Given the description of an element on the screen output the (x, y) to click on. 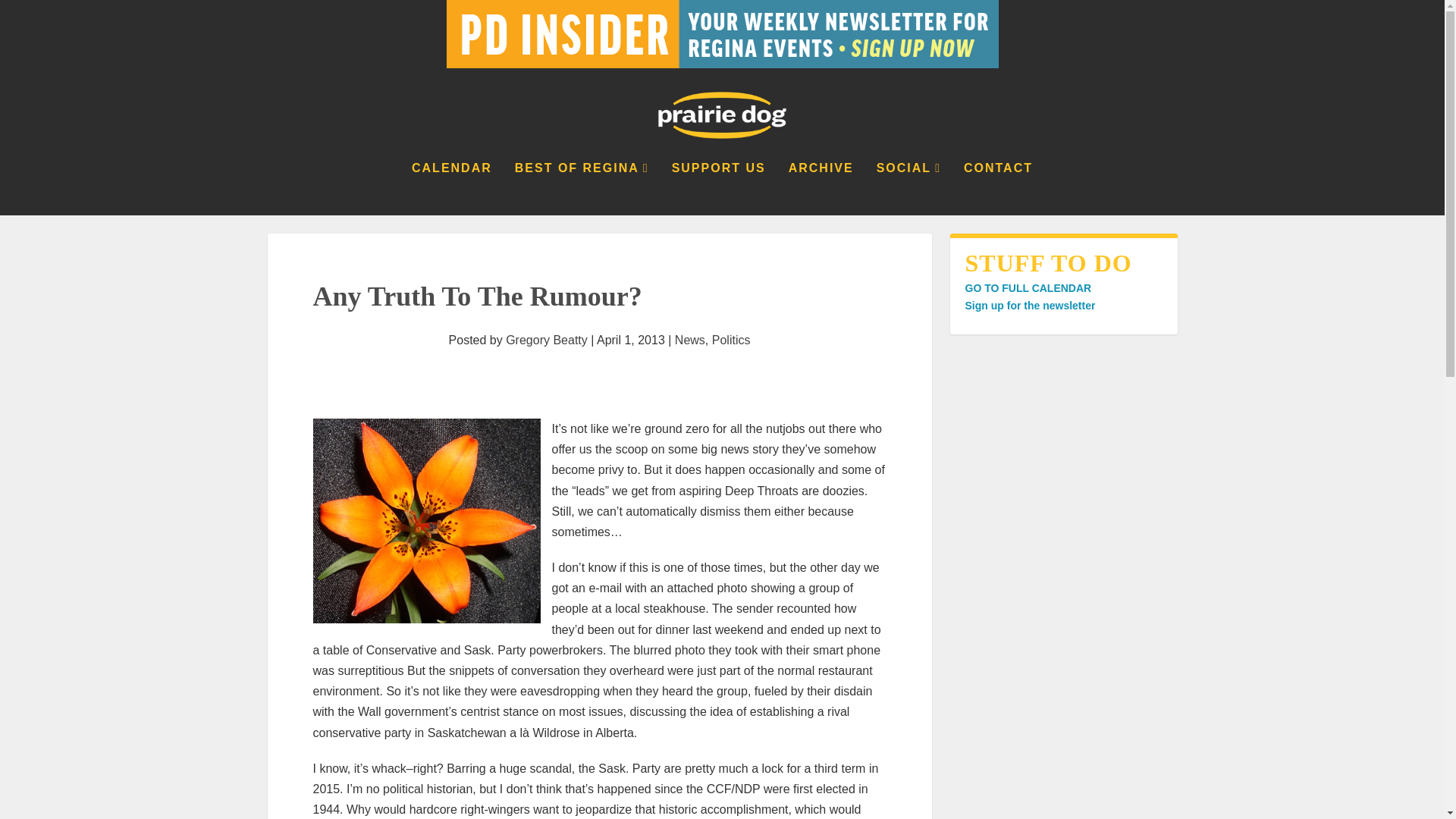
Gregory Beatty (546, 339)
Sign up for the newsletter (1028, 305)
Posts by Gregory Beatty (546, 339)
BEST OF REGINA (582, 188)
SUPPORT US (718, 188)
SOCIAL (908, 188)
Politics (731, 339)
CALENDAR (452, 188)
News (689, 339)
ARCHIVE (821, 188)
